Given the description of an element on the screen output the (x, y) to click on. 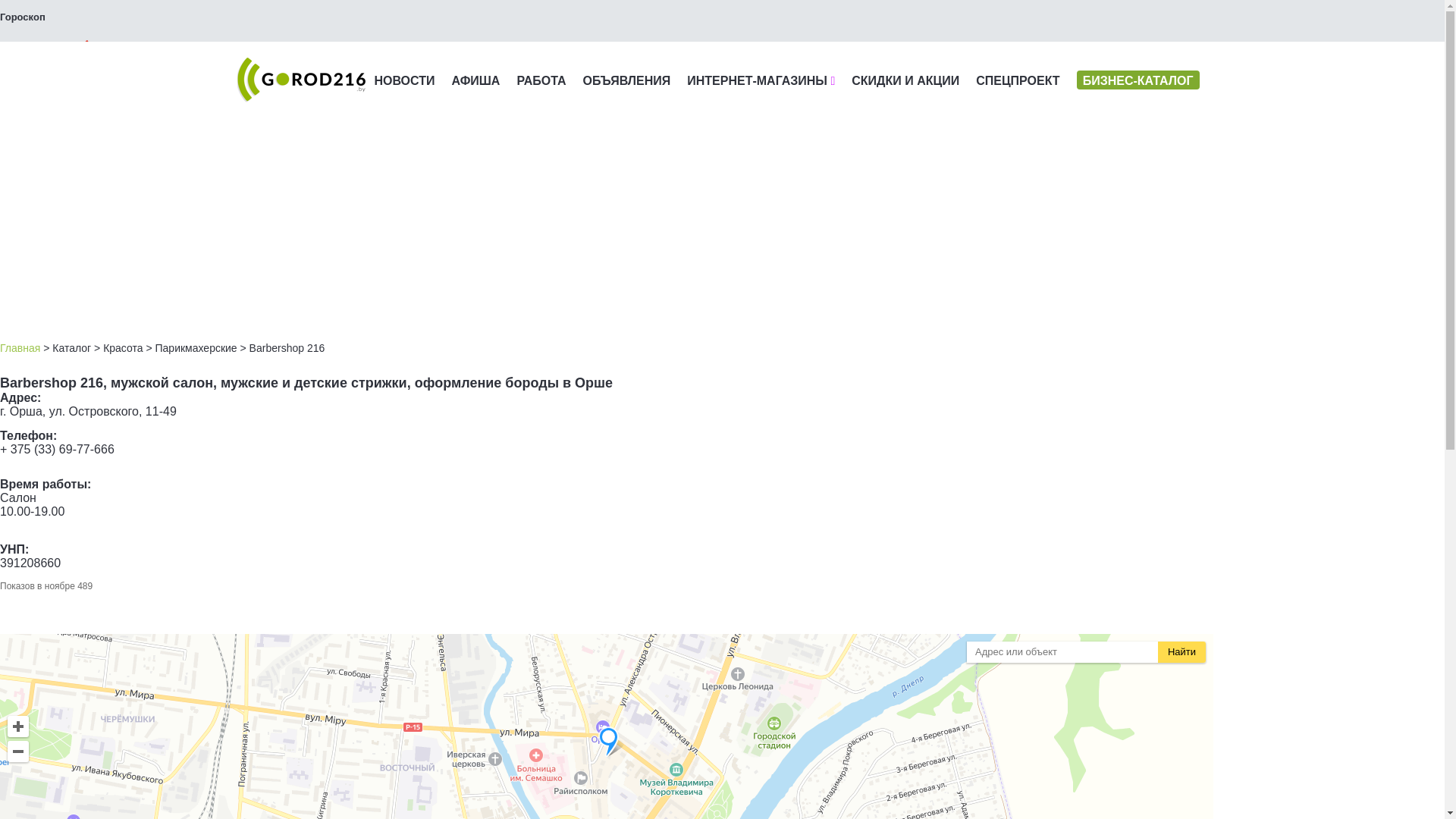
   Element type: text (49, 50)
+ 375 (33) 69-77-666 Element type: text (57, 448)
